Given the description of an element on the screen output the (x, y) to click on. 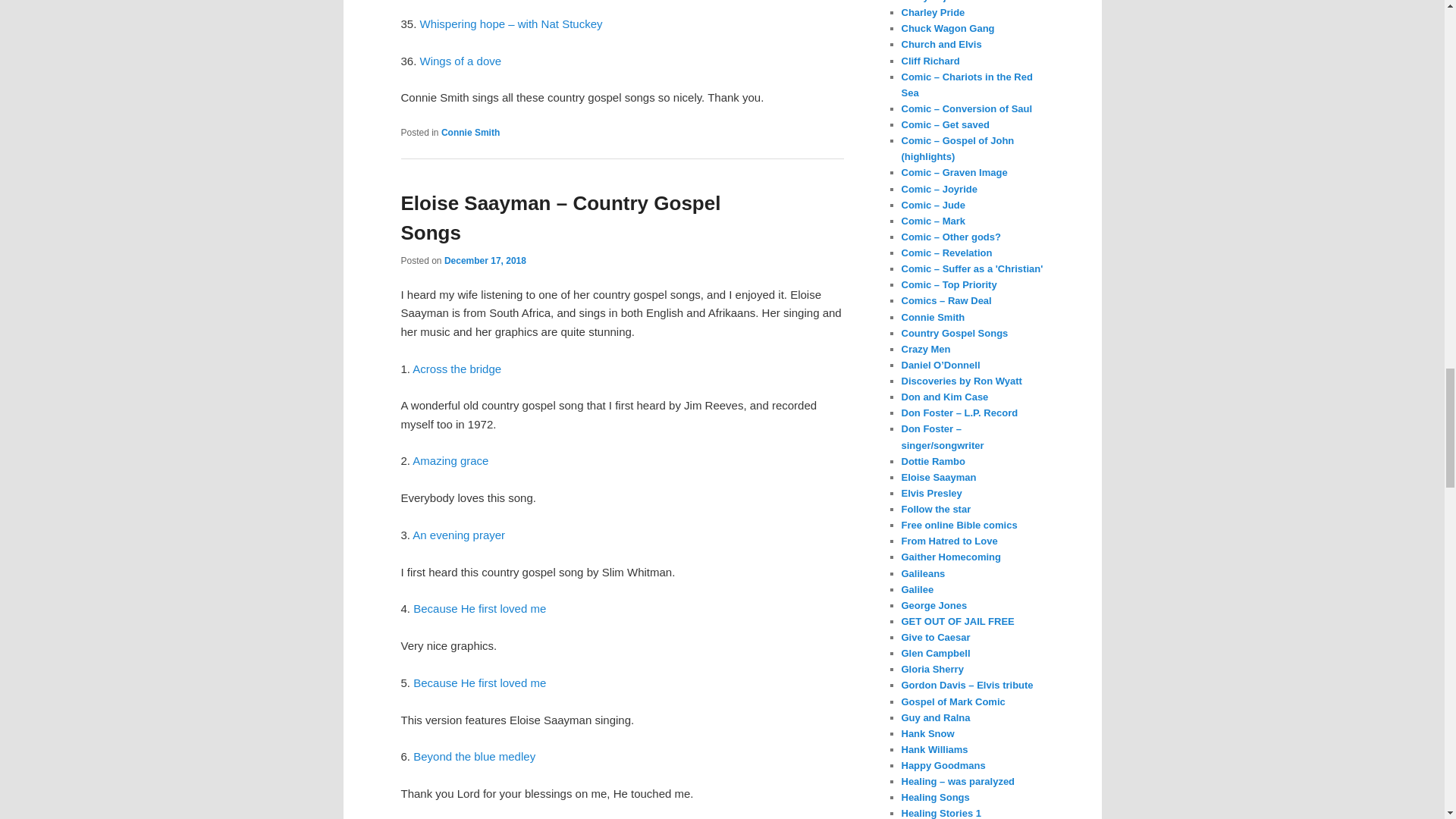
1:01 pm (484, 260)
